Given the description of an element on the screen output the (x, y) to click on. 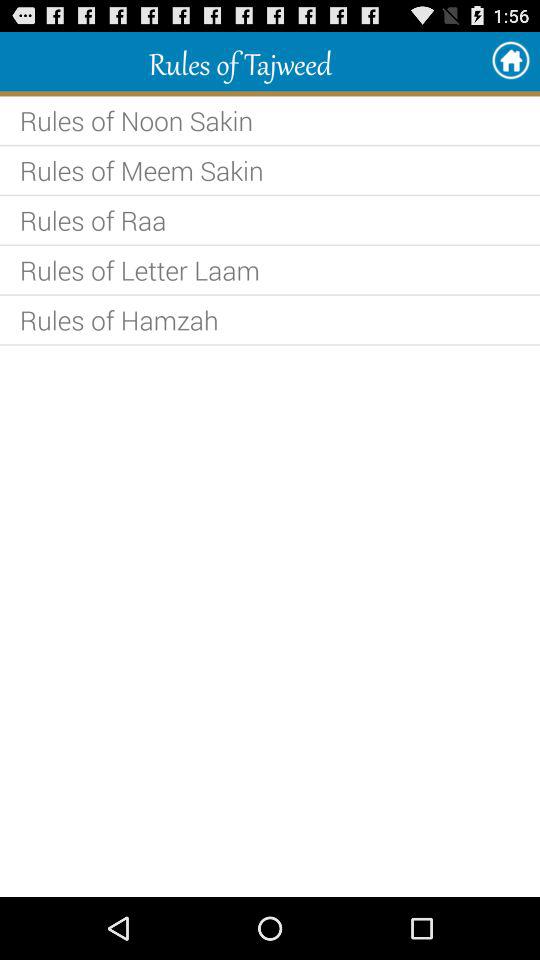
open the item to the right of the rules of tajweed app (510, 60)
